Given the description of an element on the screen output the (x, y) to click on. 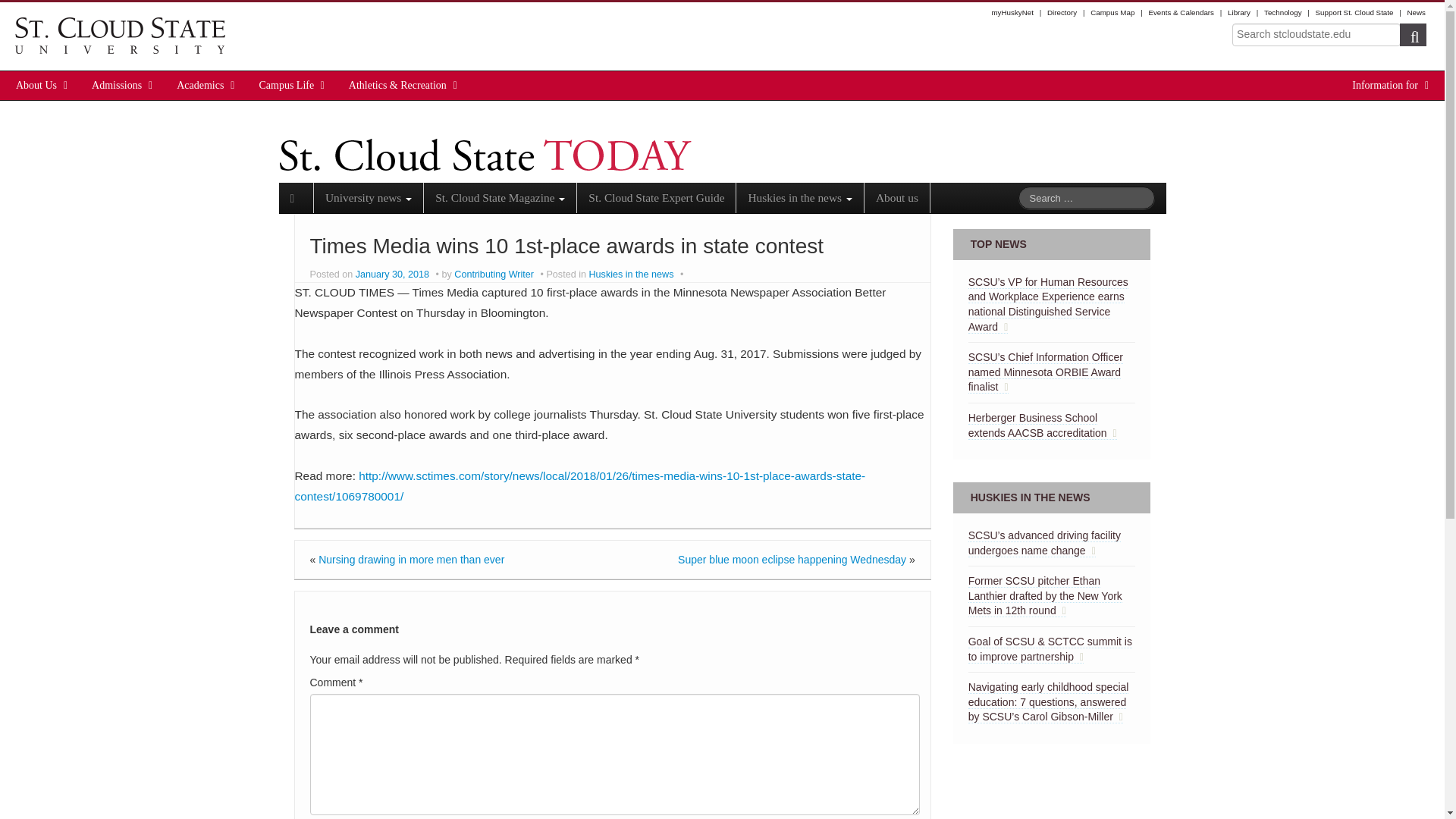
Search stcloudstate.edu (1315, 34)
About Us (36, 85)
10:29 am (393, 274)
Admissions (116, 85)
View all posts by Contributing Writer (494, 274)
Search stcloudstate.edu (1315, 34)
Academics (199, 85)
Campus Life (286, 85)
